Given the description of an element on the screen output the (x, y) to click on. 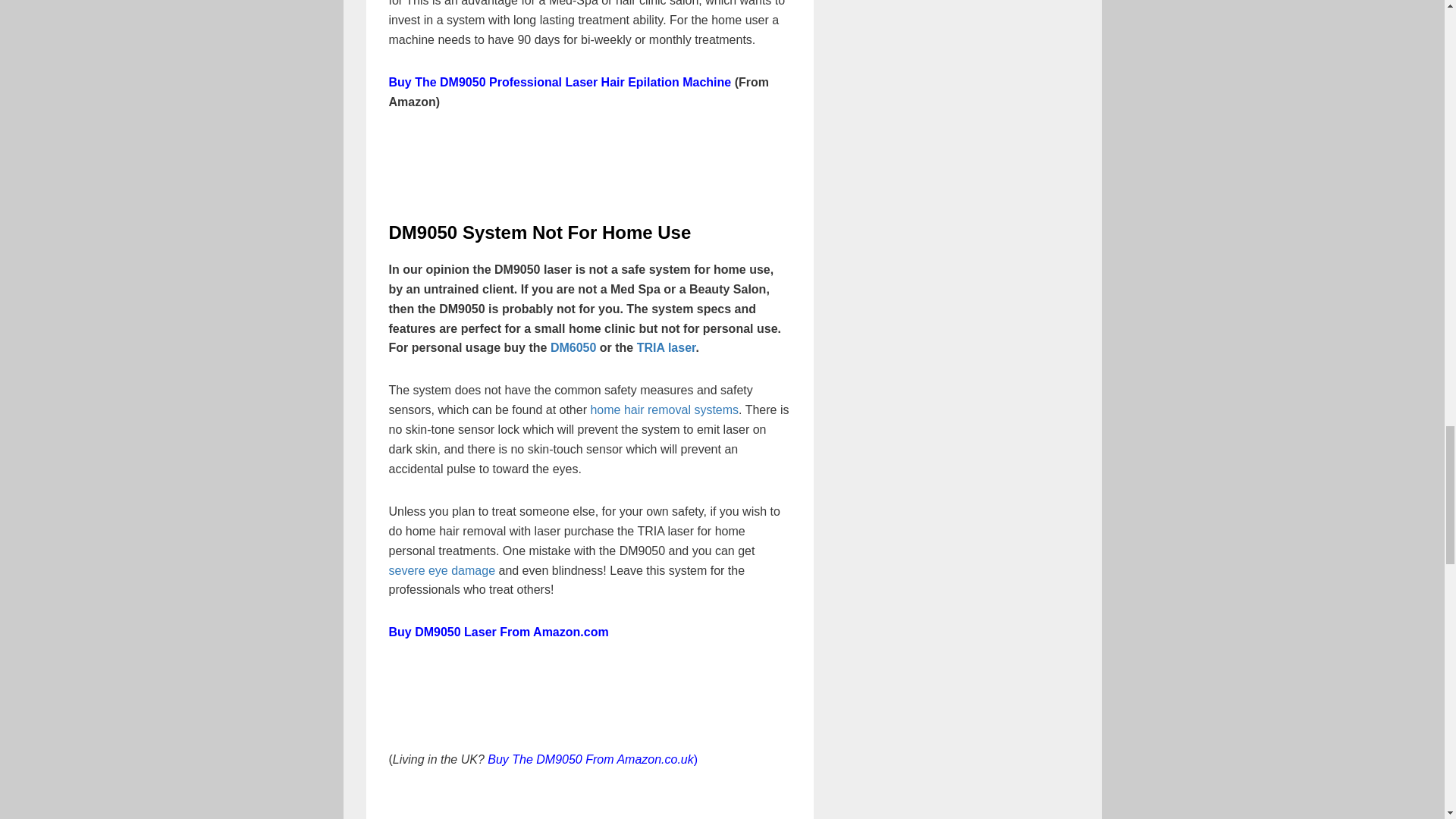
How To Use Tria Laser For Facial Hair Removal (441, 570)
TRIA laser (666, 347)
This List Will Help You Choose The Right Hair Removal Laser (663, 409)
Buy The DM9050 Professional Laser Hair Epilation Machine (559, 82)
Tria Laser vs. Avance DM6050 Laser (666, 347)
severe eye damage (441, 570)
From Amazon.co.uk (638, 758)
Buy The DM9050 (534, 758)
home hair removal systems (663, 409)
Buy DM9050 Laser From Amazon.com (498, 631)
